Given the description of an element on the screen output the (x, y) to click on. 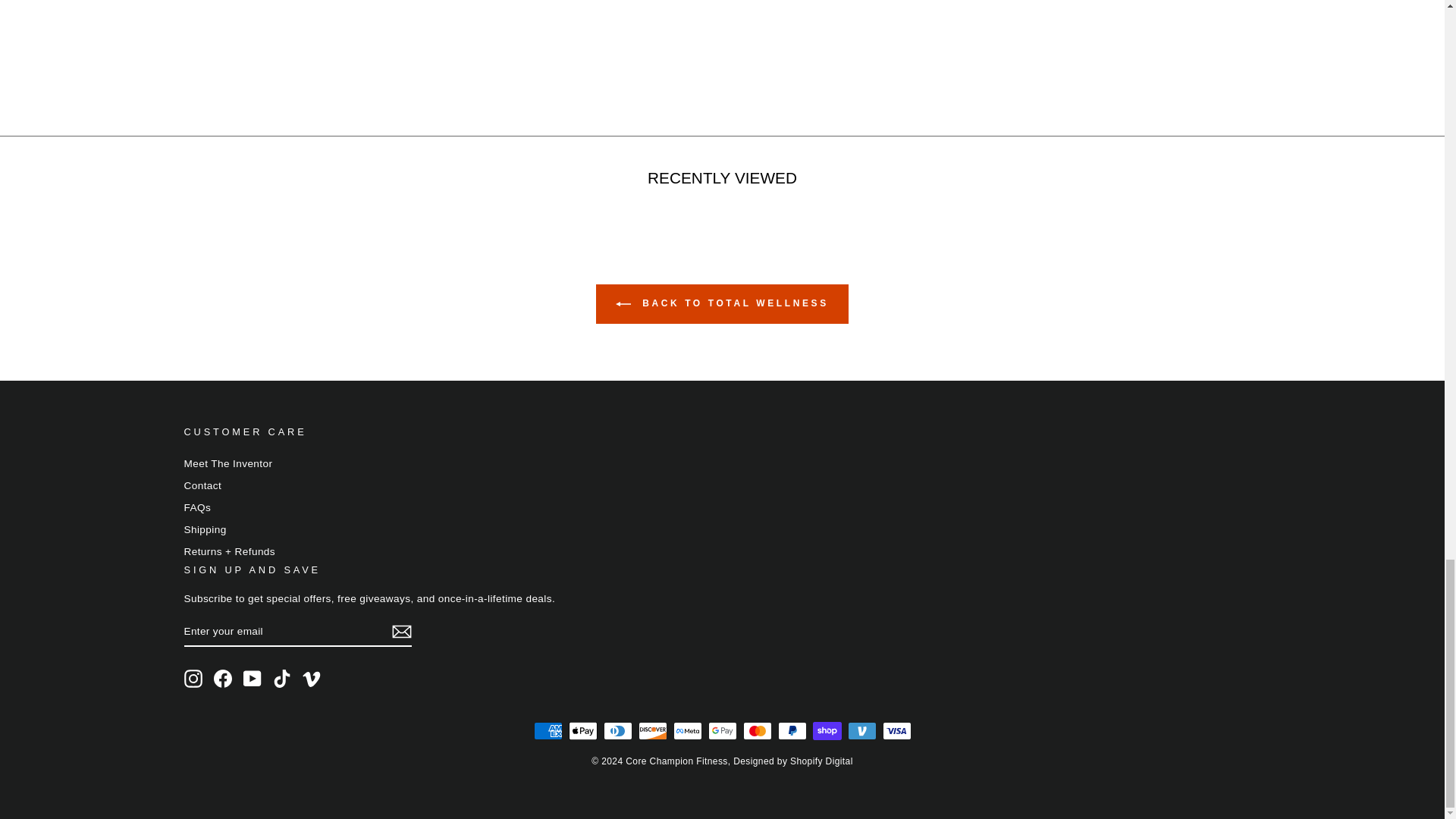
Core Champion Fitness on Vimeo (310, 678)
American Express (548, 730)
Core Champion Fitness on Facebook (222, 678)
Core Champion Fitness on Instagram (192, 678)
Core Champion Fitness on TikTok (282, 678)
Apple Pay (582, 730)
Core Champion Fitness on YouTube (251, 678)
